Given the description of an element on the screen output the (x, y) to click on. 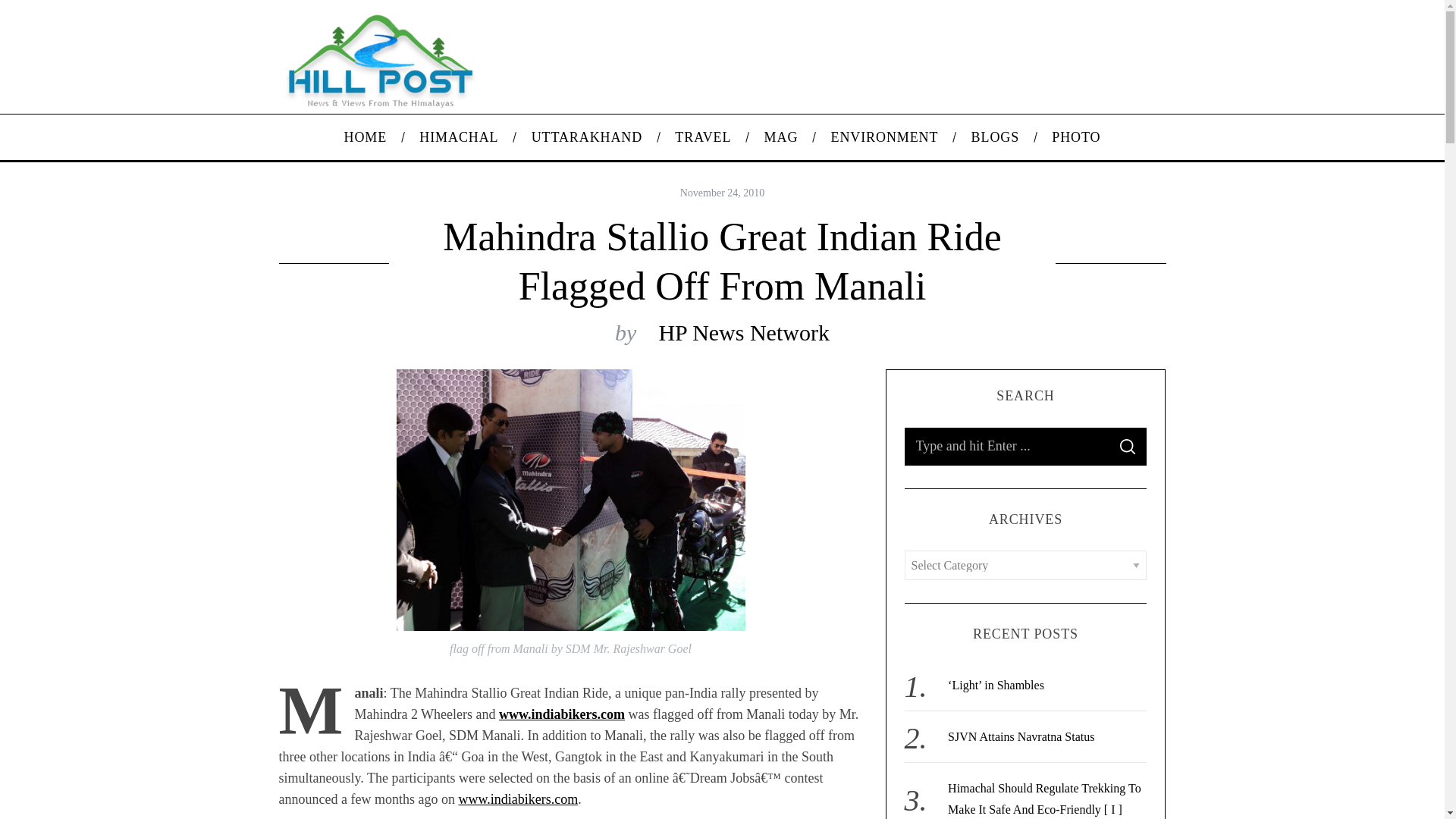
SJVN Attains Navratna Status (1020, 736)
SEARCH (1127, 446)
flag off from Manali by SDM Mr. Rajeshwar Goel (570, 499)
